Given the description of an element on the screen output the (x, y) to click on. 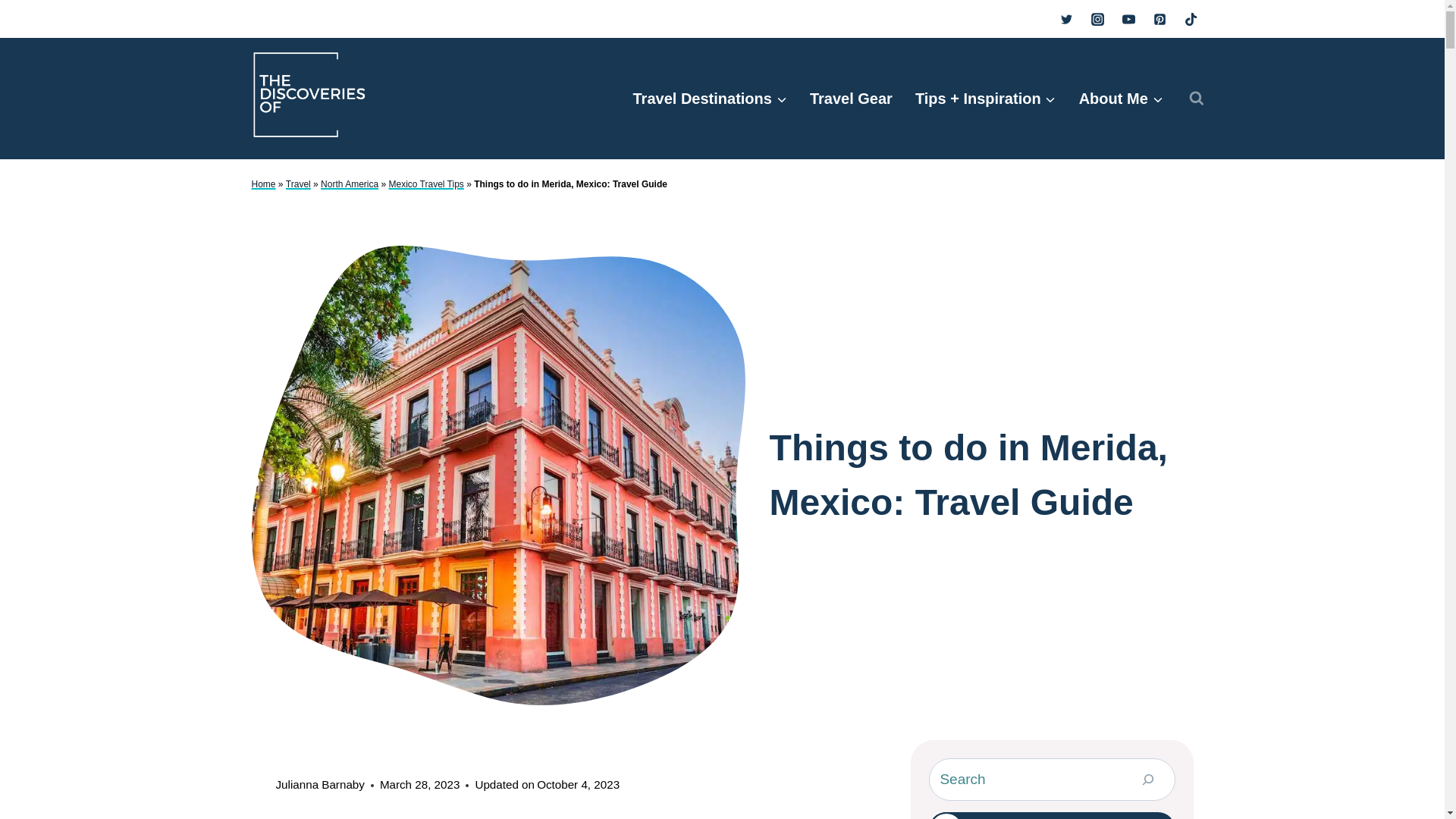
Follow on YouTube (1051, 815)
Travel Destinations (709, 97)
